Given the description of an element on the screen output the (x, y) to click on. 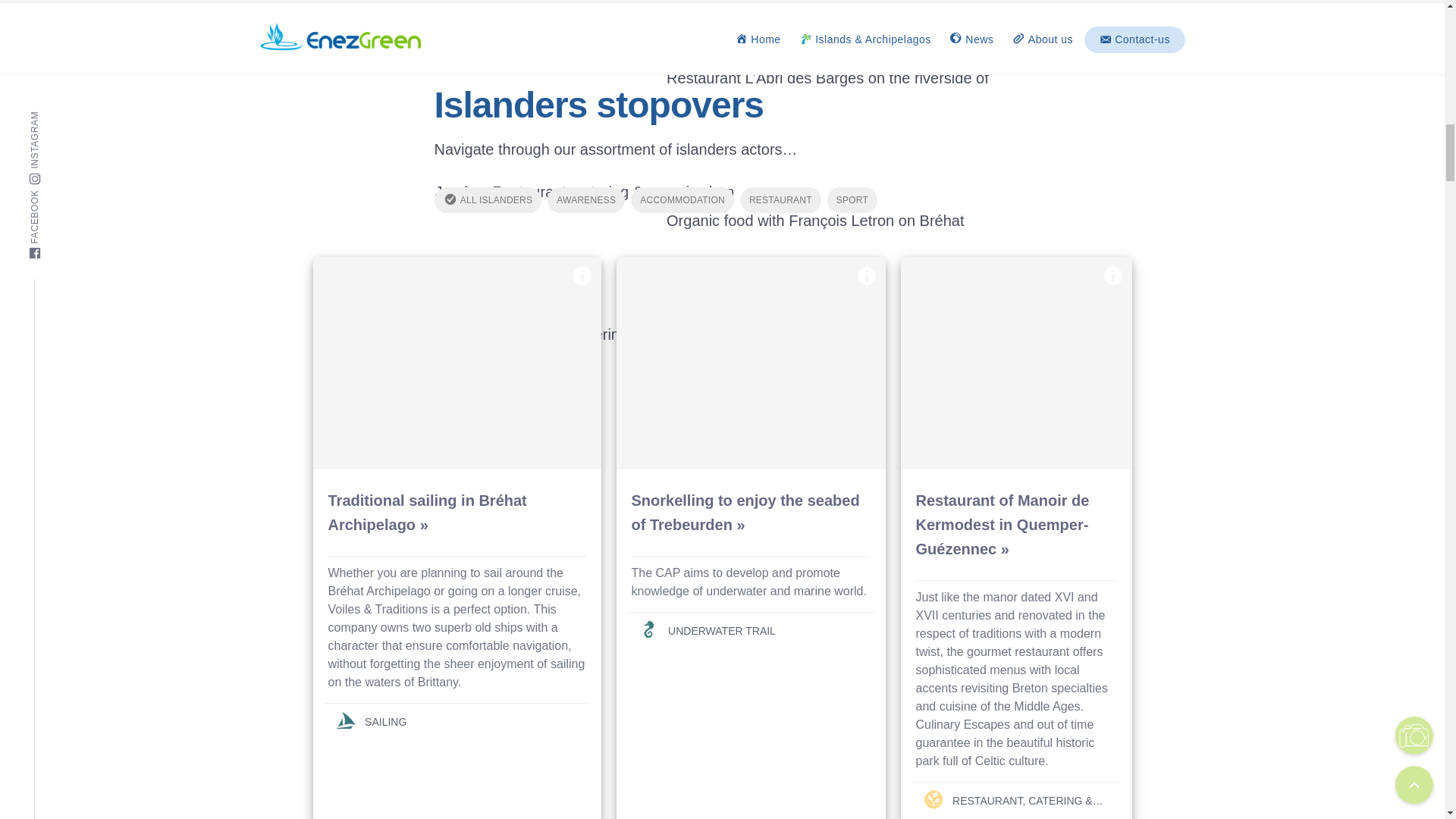
RESTAURANT (780, 199)
Snorkelling to enjoy the seabed of Trebeurden (750, 363)
SPORT (852, 199)
AWARENESS (585, 199)
ALL ISLANDERS (487, 199)
ACCOMMODATION (681, 199)
